Given the description of an element on the screen output the (x, y) to click on. 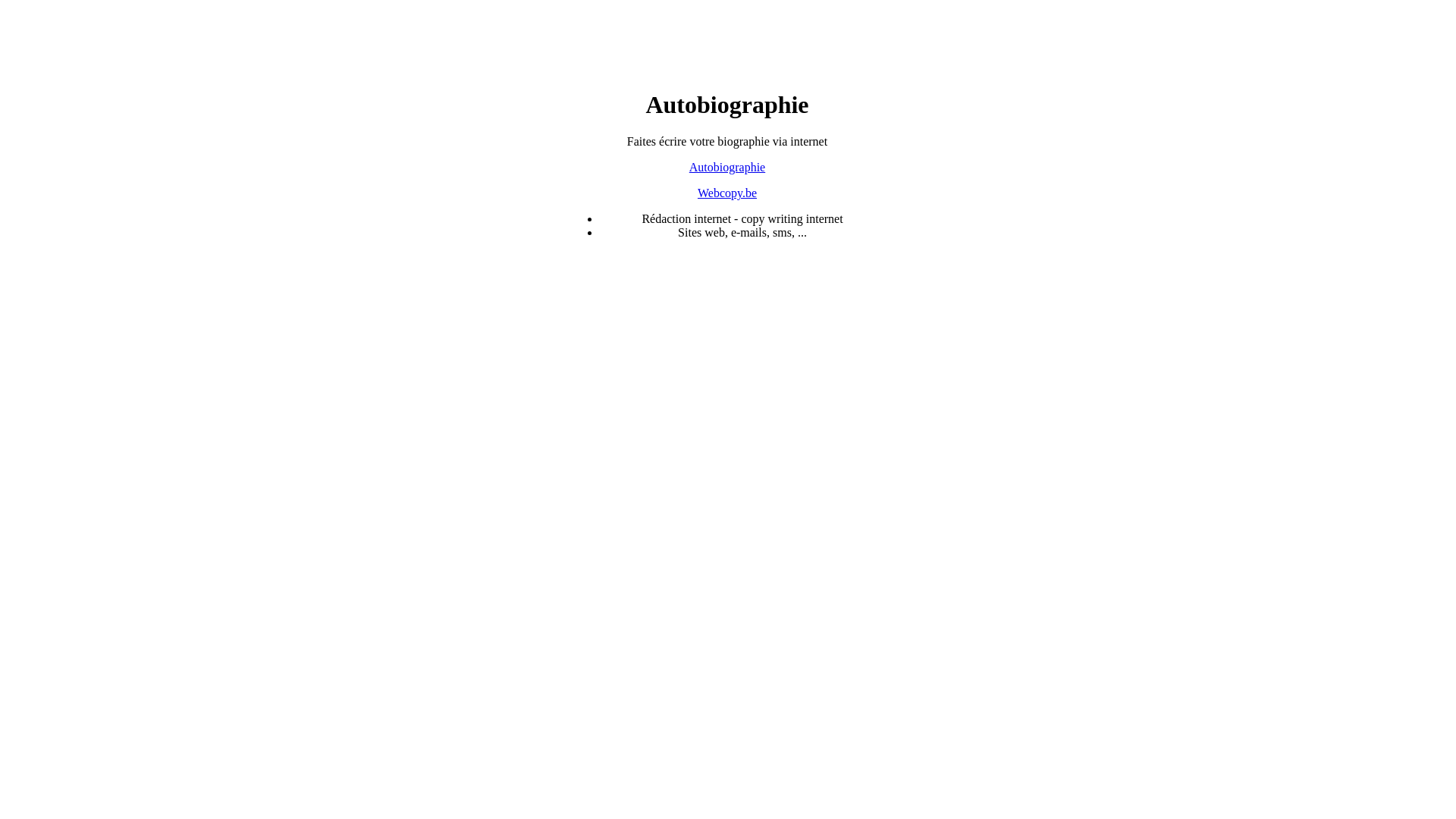
Webcopy.be Element type: text (726, 192)
Autobiographie Element type: text (727, 166)
